Given the description of an element on the screen output the (x, y) to click on. 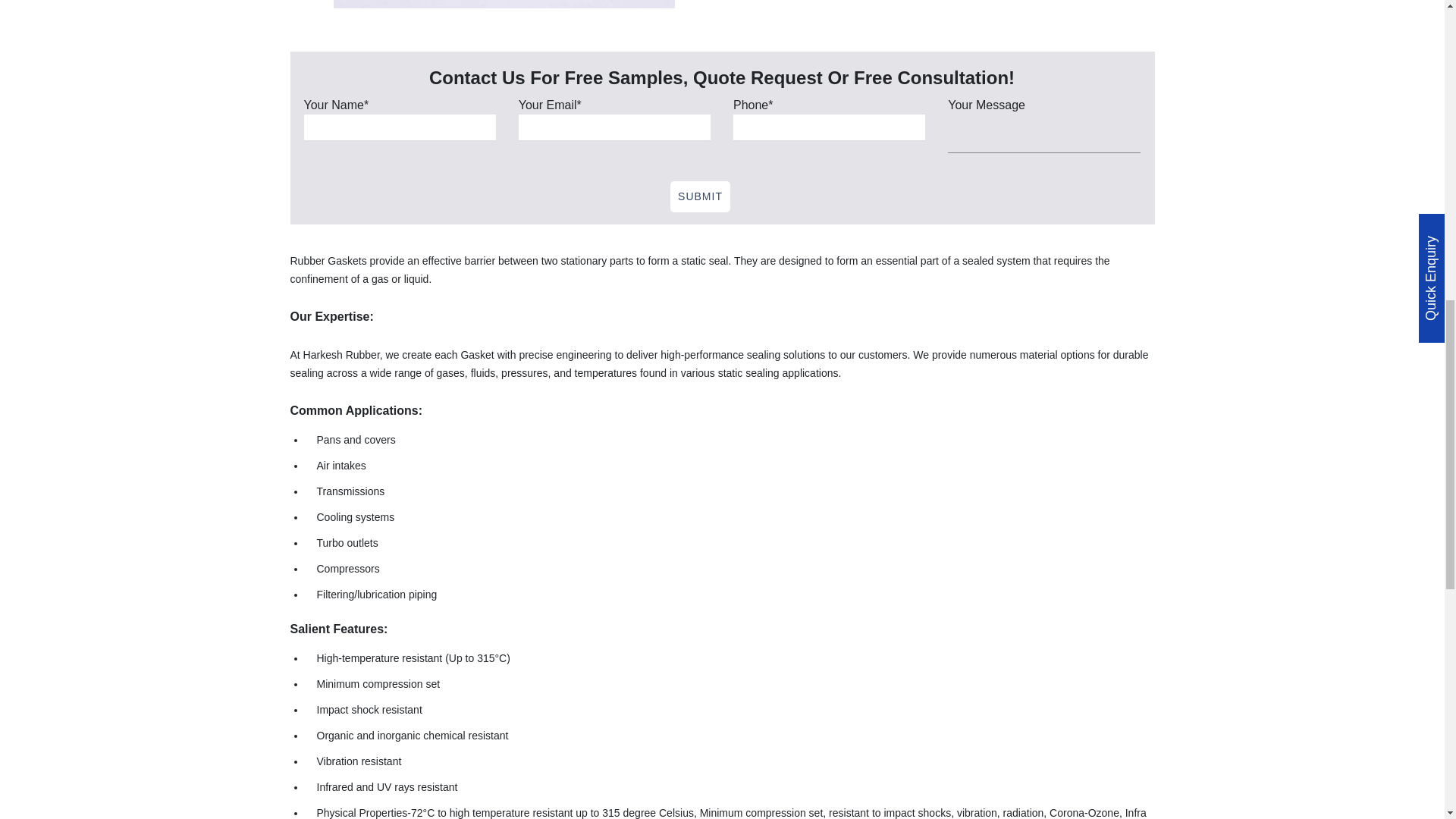
Submit (699, 196)
Gaskets (504, 4)
Submit (699, 196)
